Given the description of an element on the screen output the (x, y) to click on. 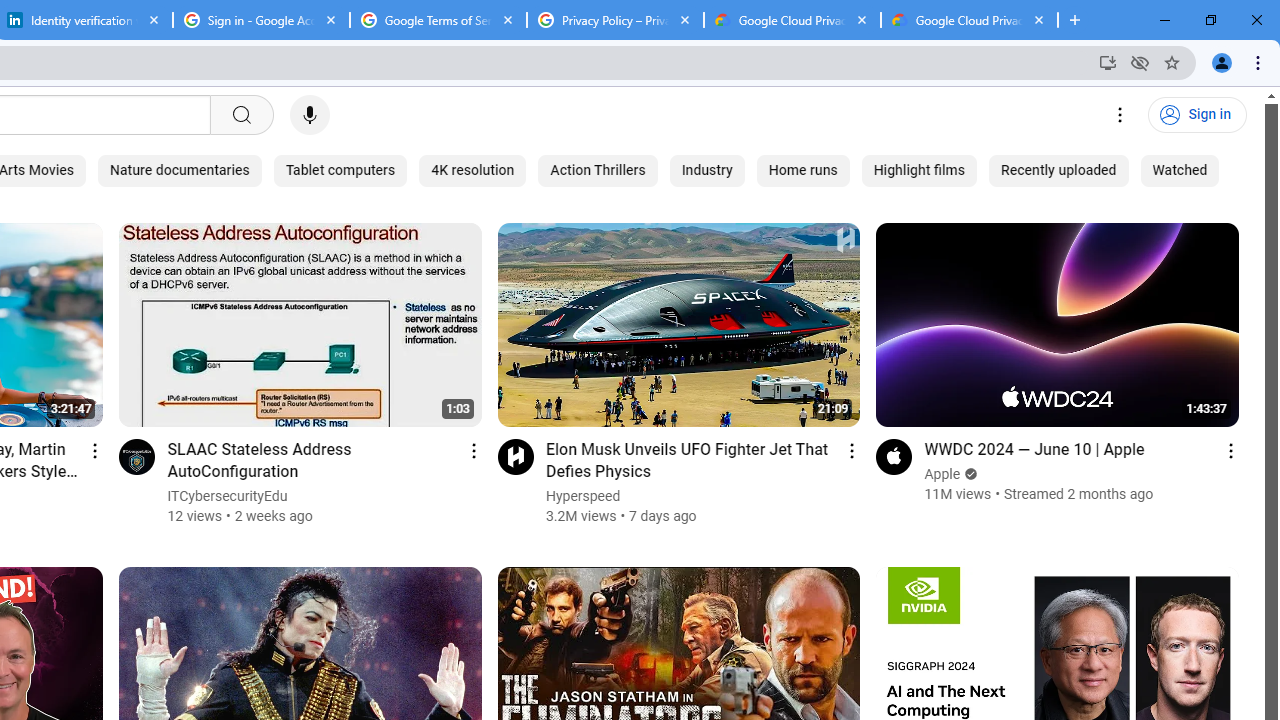
Hyperspeed (583, 496)
Google Cloud Privacy Notice (969, 20)
Nature documentaries (180, 170)
Home runs (802, 170)
